Given the description of an element on the screen output the (x, y) to click on. 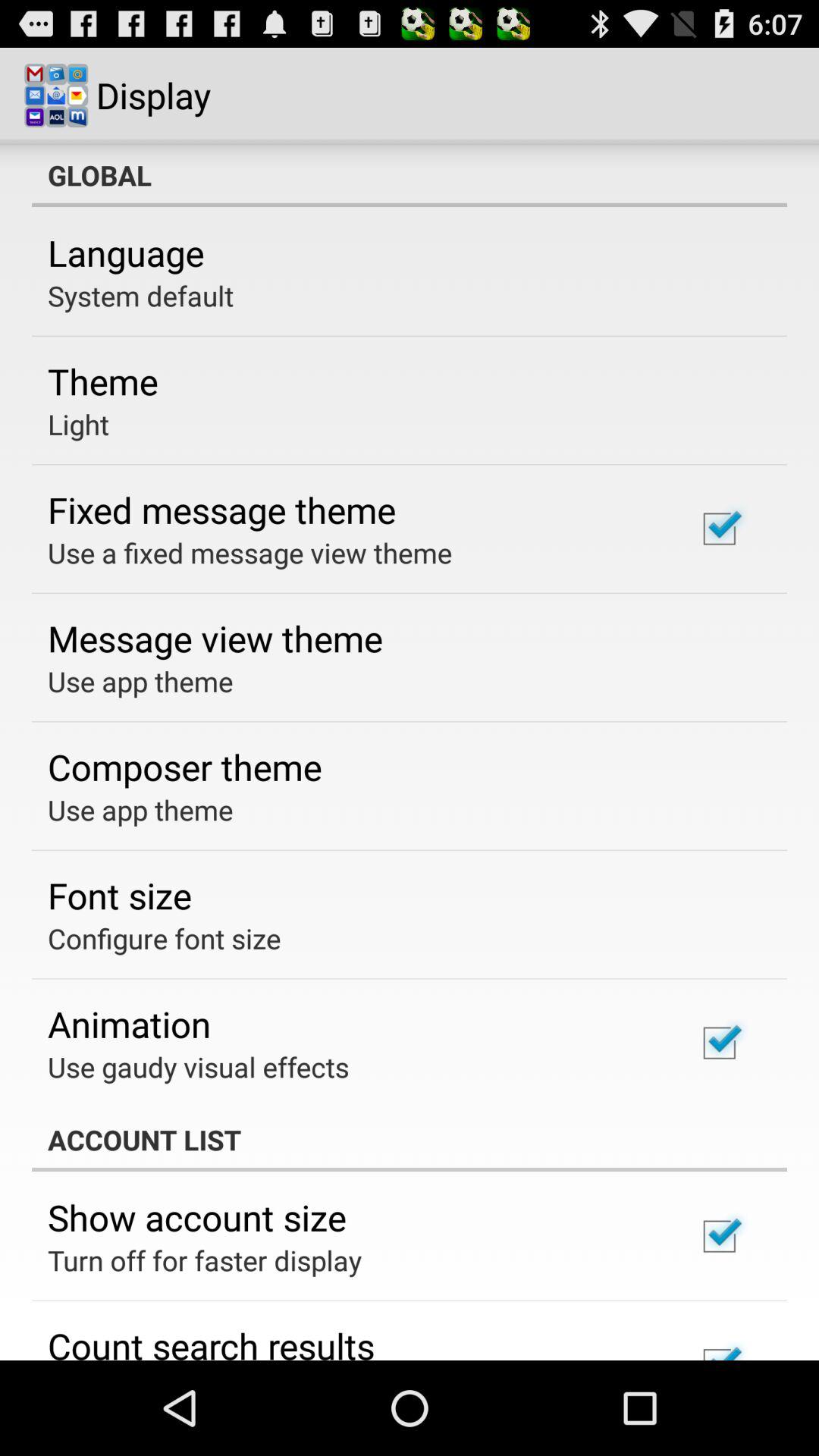
flip to the turn off for item (204, 1260)
